Given the description of an element on the screen output the (x, y) to click on. 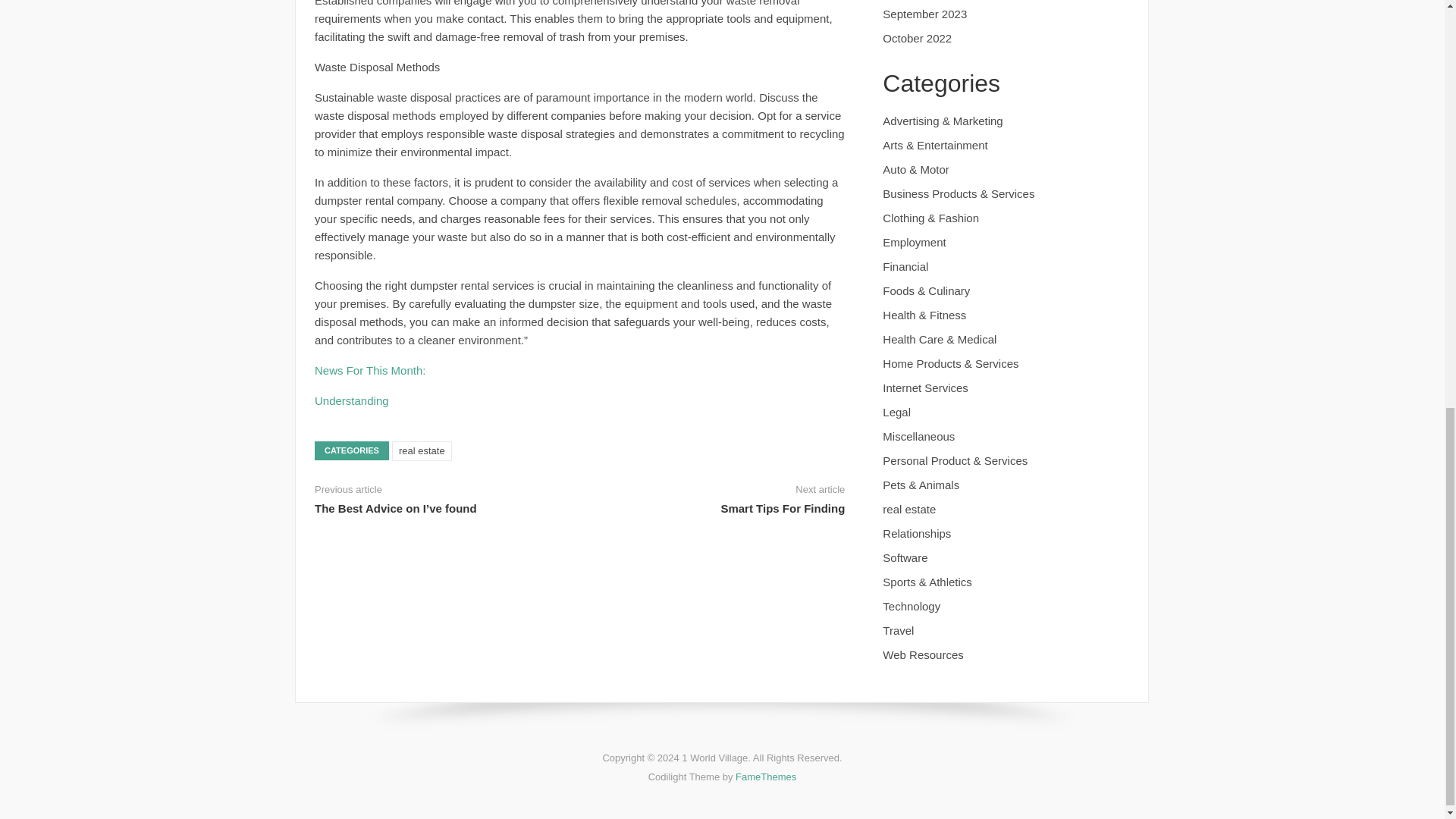
News For This Month: (369, 369)
real estate (421, 451)
Smart Tips For Finding (782, 508)
Understanding (351, 400)
Financial (905, 266)
October 2022 (917, 38)
Employment (913, 241)
September 2023 (924, 13)
